Given the description of an element on the screen output the (x, y) to click on. 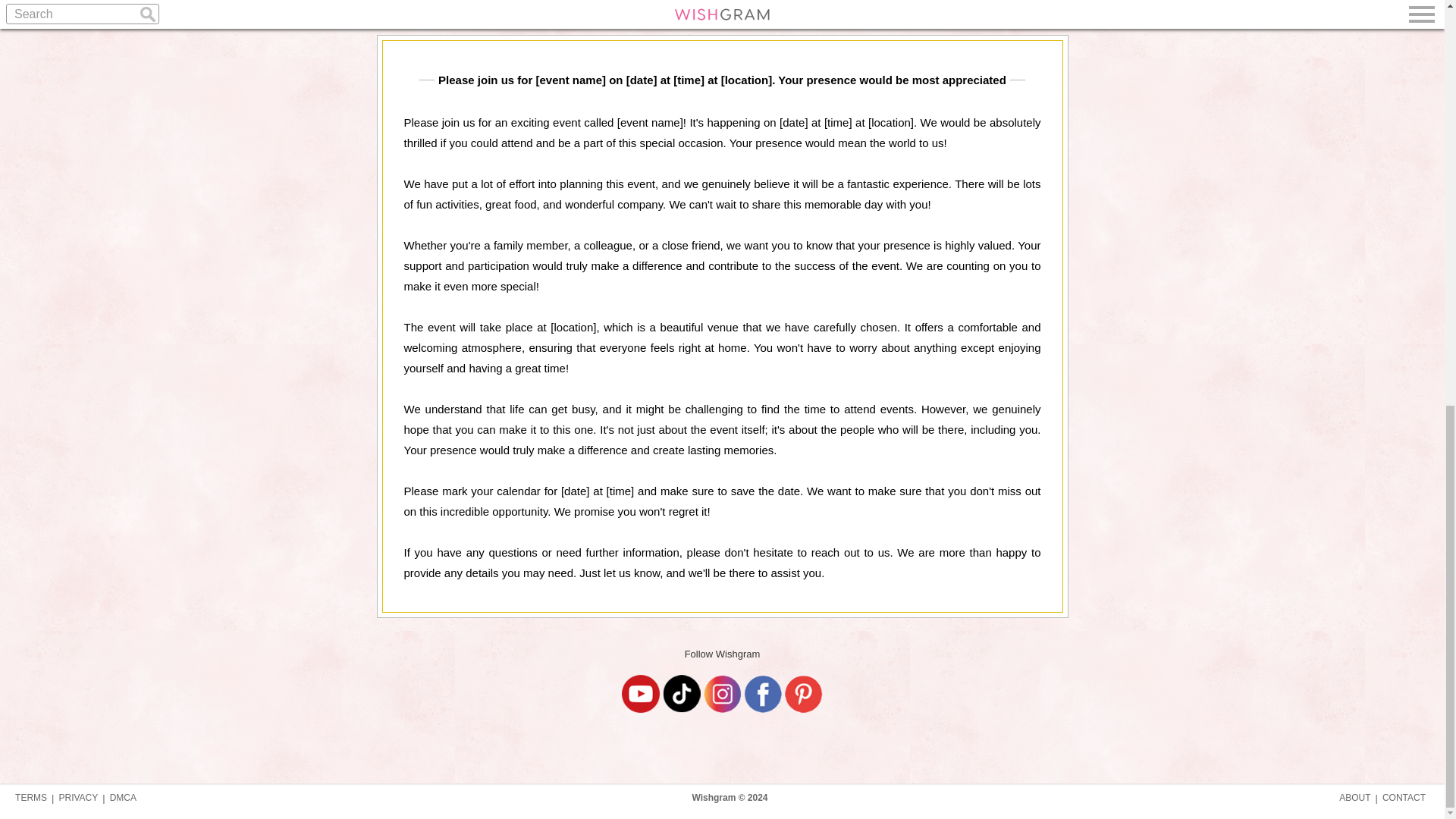
INVITATION (721, 2)
